Given the description of an element on the screen output the (x, y) to click on. 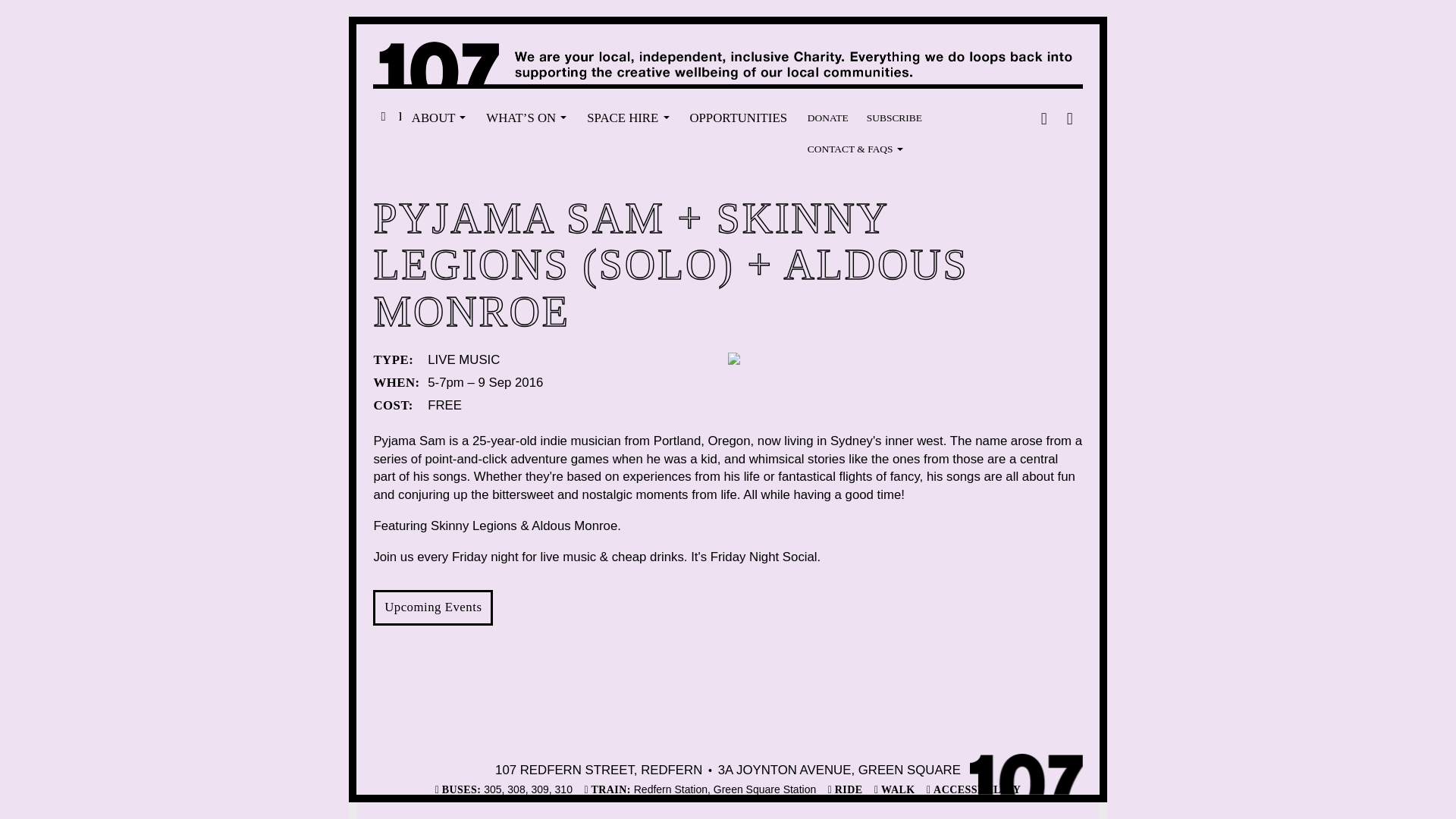
HOME (386, 117)
ABOUT (438, 117)
ABOUT (438, 117)
HOME (386, 117)
SPACE HIRE (627, 117)
